Given the description of an element on the screen output the (x, y) to click on. 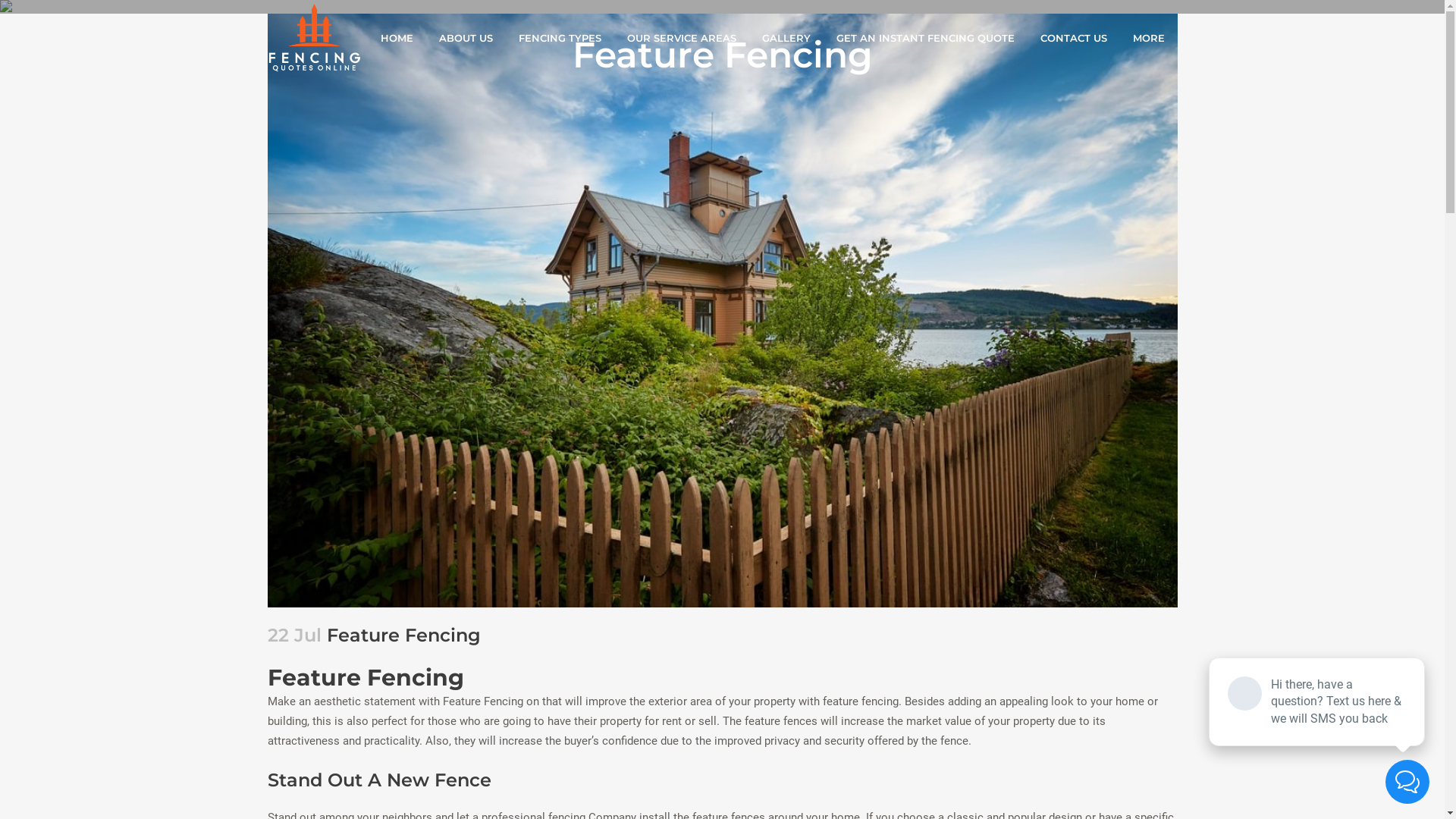
GALLERY Element type: text (786, 37)
ABOUT US Element type: text (465, 37)
CONTACT US Element type: text (1072, 37)
GET AN INSTANT FENCING QUOTE Element type: text (925, 37)
OUR SERVICE AREAS Element type: text (681, 37)
MORE Element type: text (1147, 37)
FENCING TYPES Element type: text (559, 37)
HOME Element type: text (396, 37)
